Given the description of an element on the screen output the (x, y) to click on. 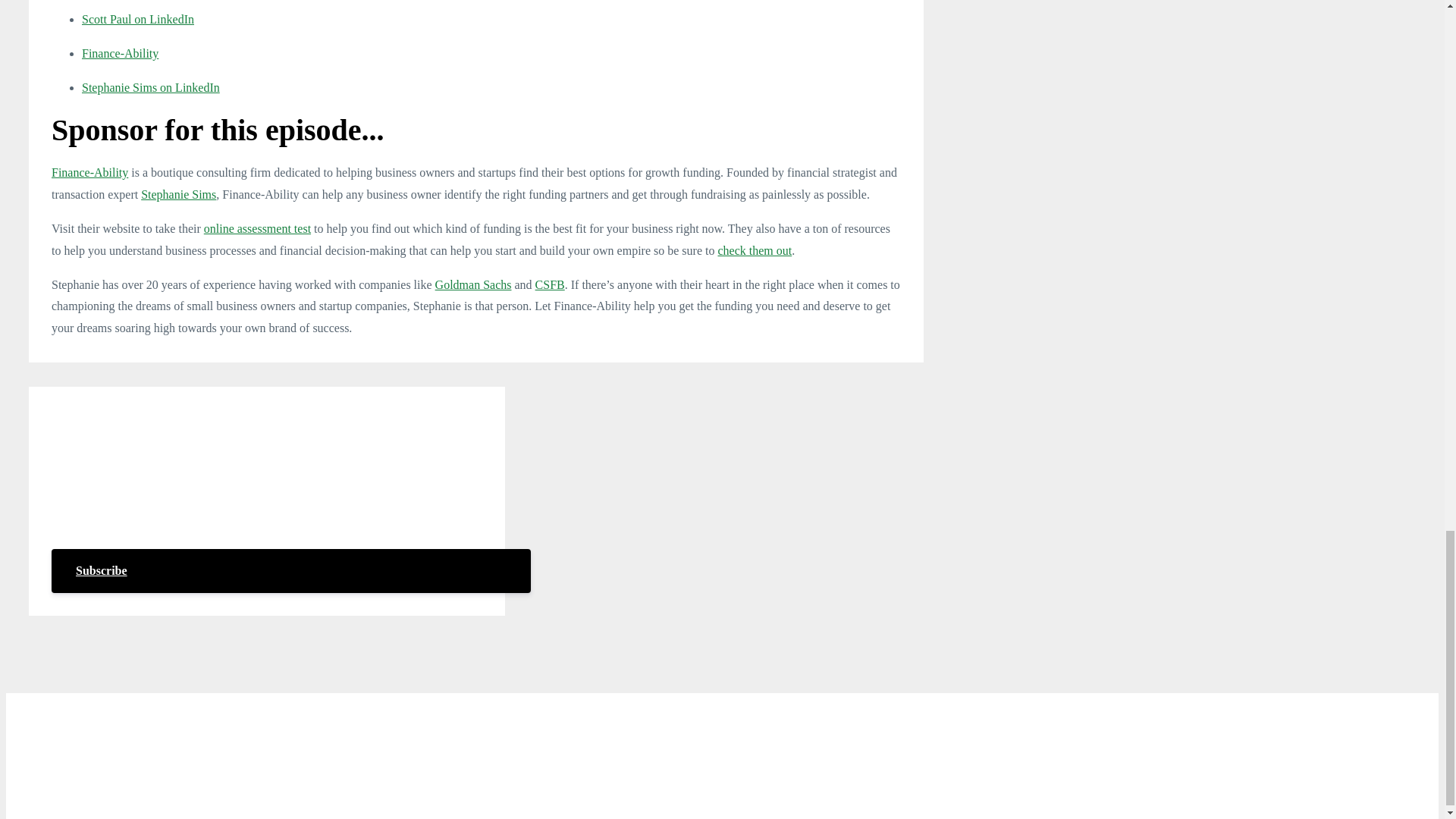
check them out (754, 250)
Terms (852, 731)
Finance-Ability (89, 172)
online assessment test (257, 228)
CSFB (549, 284)
Stephanie Sims on LinkedIn (150, 87)
Subscribe (290, 570)
Privacy (904, 731)
Scott Paul on LinkedIn (137, 19)
Finance-Ability (119, 52)
Stephanie Sims (178, 194)
Goldman Sachs (473, 284)
